Given the description of an element on the screen output the (x, y) to click on. 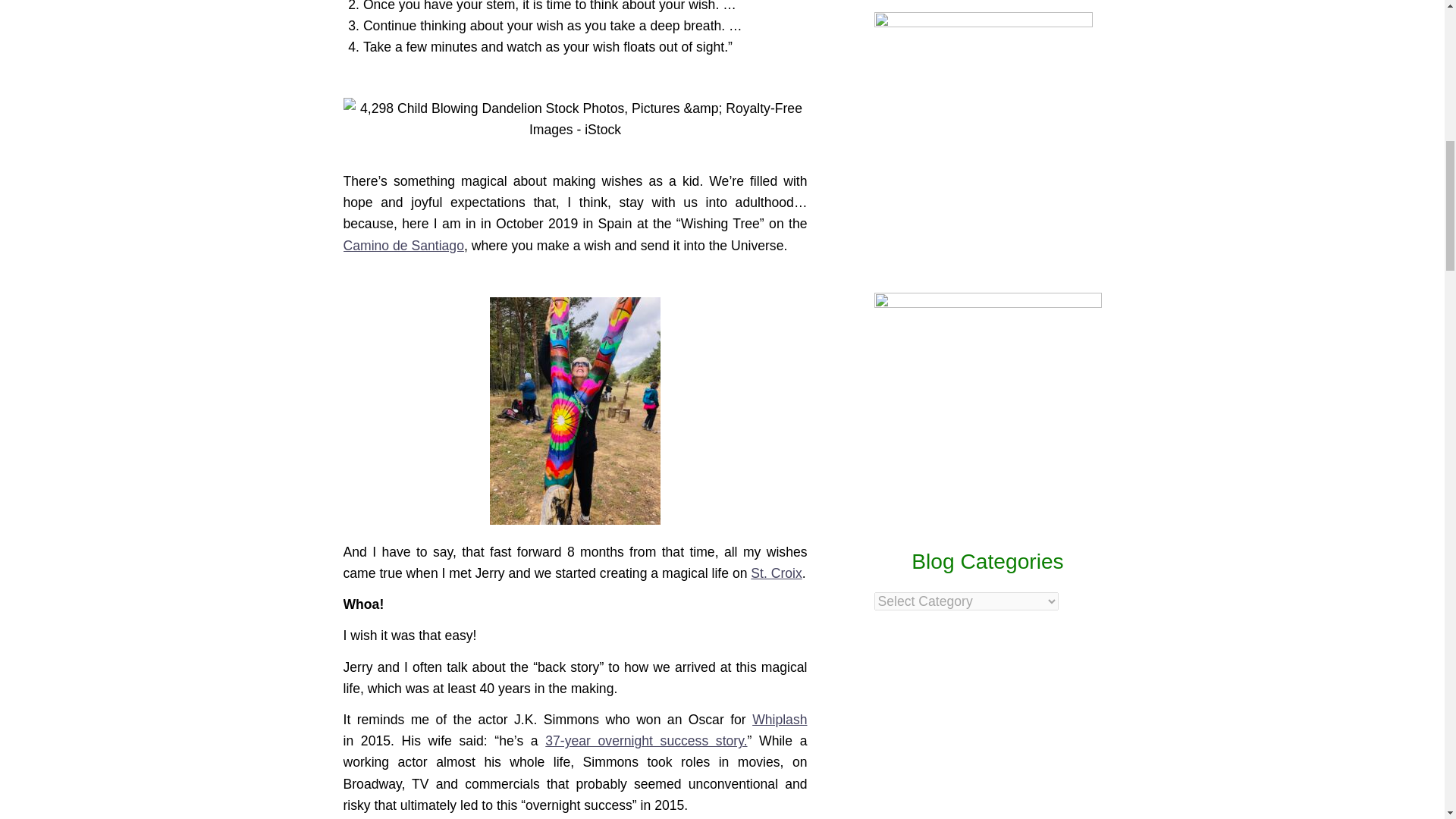
37-year overnight success story. (645, 740)
Whiplash (779, 719)
Camino de Santiago (402, 245)
St. Croix (776, 572)
